Given the description of an element on the screen output the (x, y) to click on. 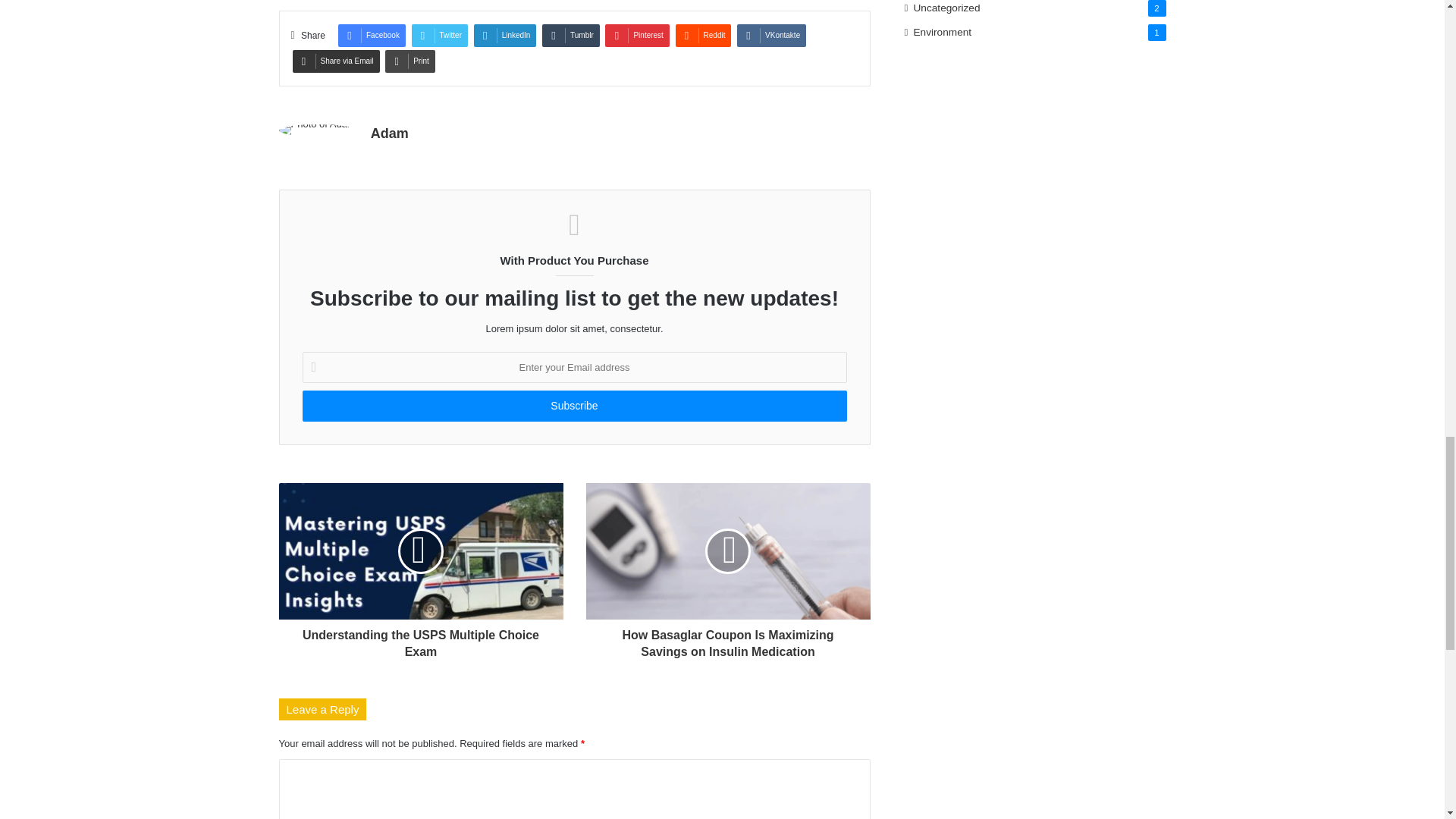
Subscribe (573, 405)
